Given the description of an element on the screen output the (x, y) to click on. 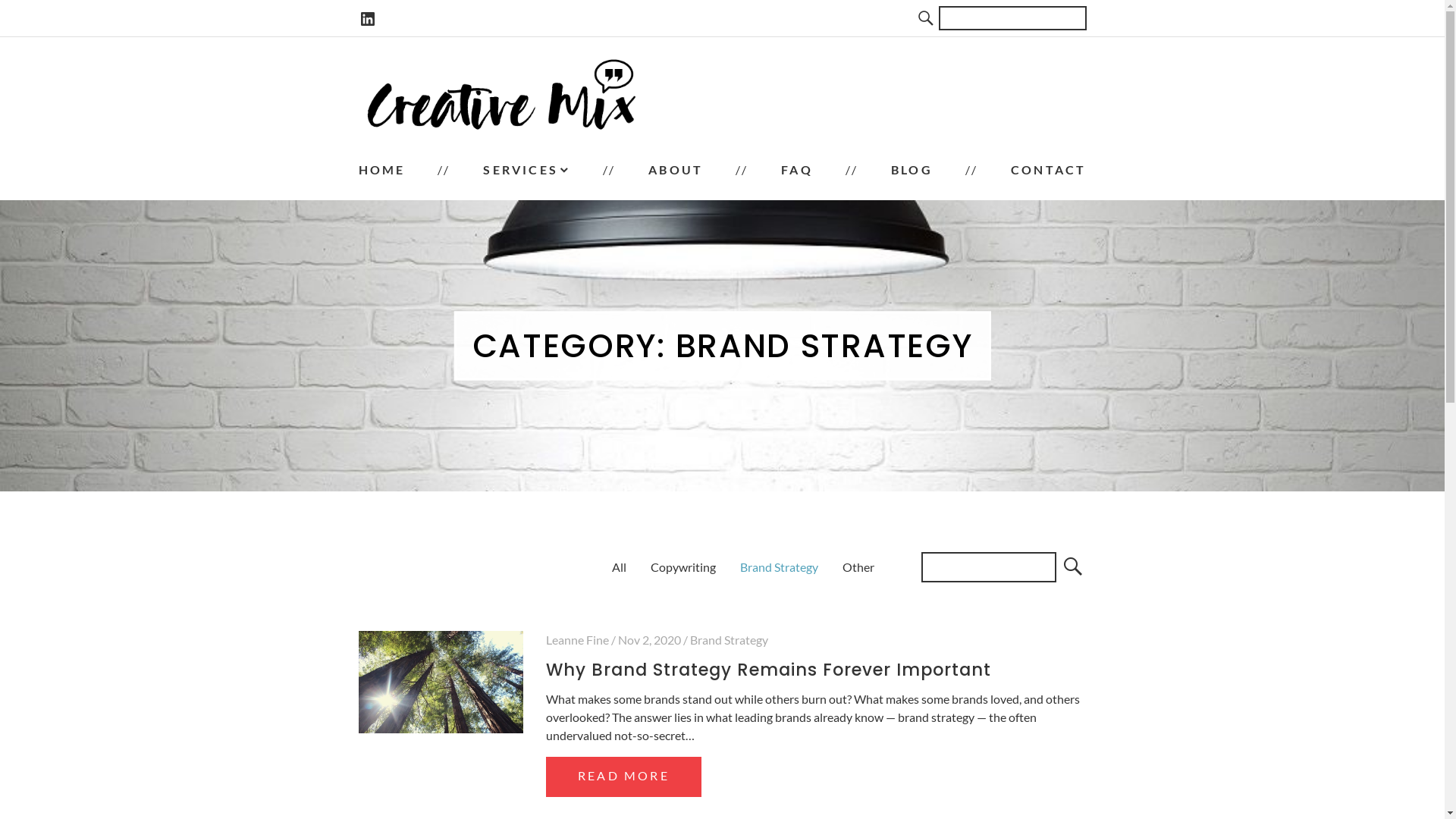
CONTACT Element type: text (1047, 169)
Why Brand Strategy Remains Forever Important Element type: hover (440, 681)
Why Brand Strategy Remains Forever Important Element type: text (768, 669)
Search Element type: hover (926, 18)
Other Element type: text (858, 567)
FAQ Element type: text (796, 169)
Leanne Fine Element type: text (577, 639)
BLOG Element type: text (911, 169)
Brand Strategy Element type: text (779, 567)
Copywriting Element type: text (682, 567)
Search Element type: hover (1070, 567)
ABOUT Element type: text (675, 169)
Nov 2, 2020 Element type: text (649, 639)
All Element type: text (618, 567)
HOME Element type: text (380, 169)
SERVICES Element type: text (526, 169)
Brand Strategy Element type: text (729, 639)
READ MORE Element type: text (623, 776)
